Given the description of an element on the screen output the (x, y) to click on. 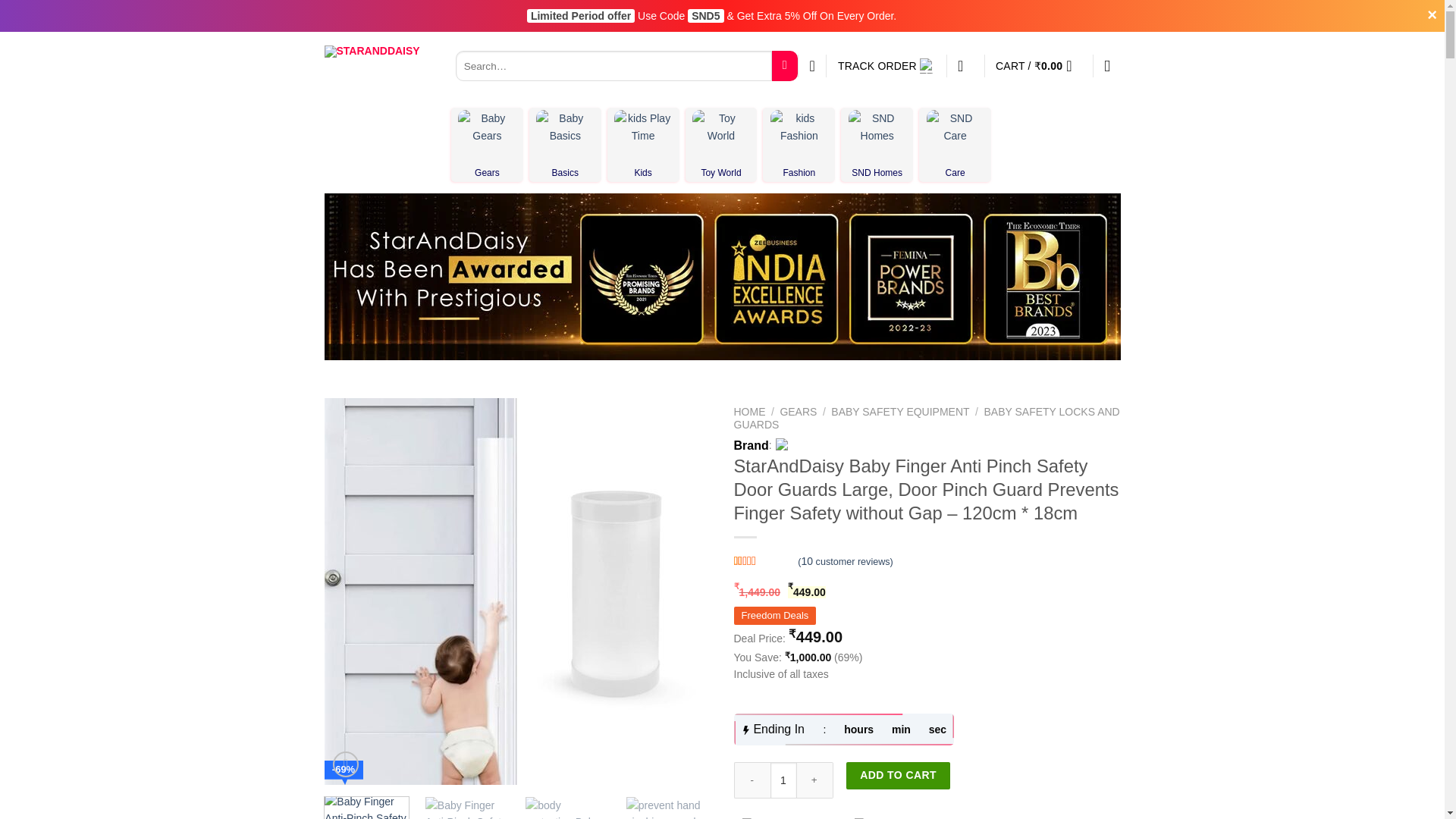
StarAndDaisy (378, 65)
Track Order (886, 65)
Zoom (345, 764)
StarAndDaisy (800, 445)
TRACK ORDER  (886, 65)
- (751, 780)
Cart (1038, 65)
